Given the description of an element on the screen output the (x, y) to click on. 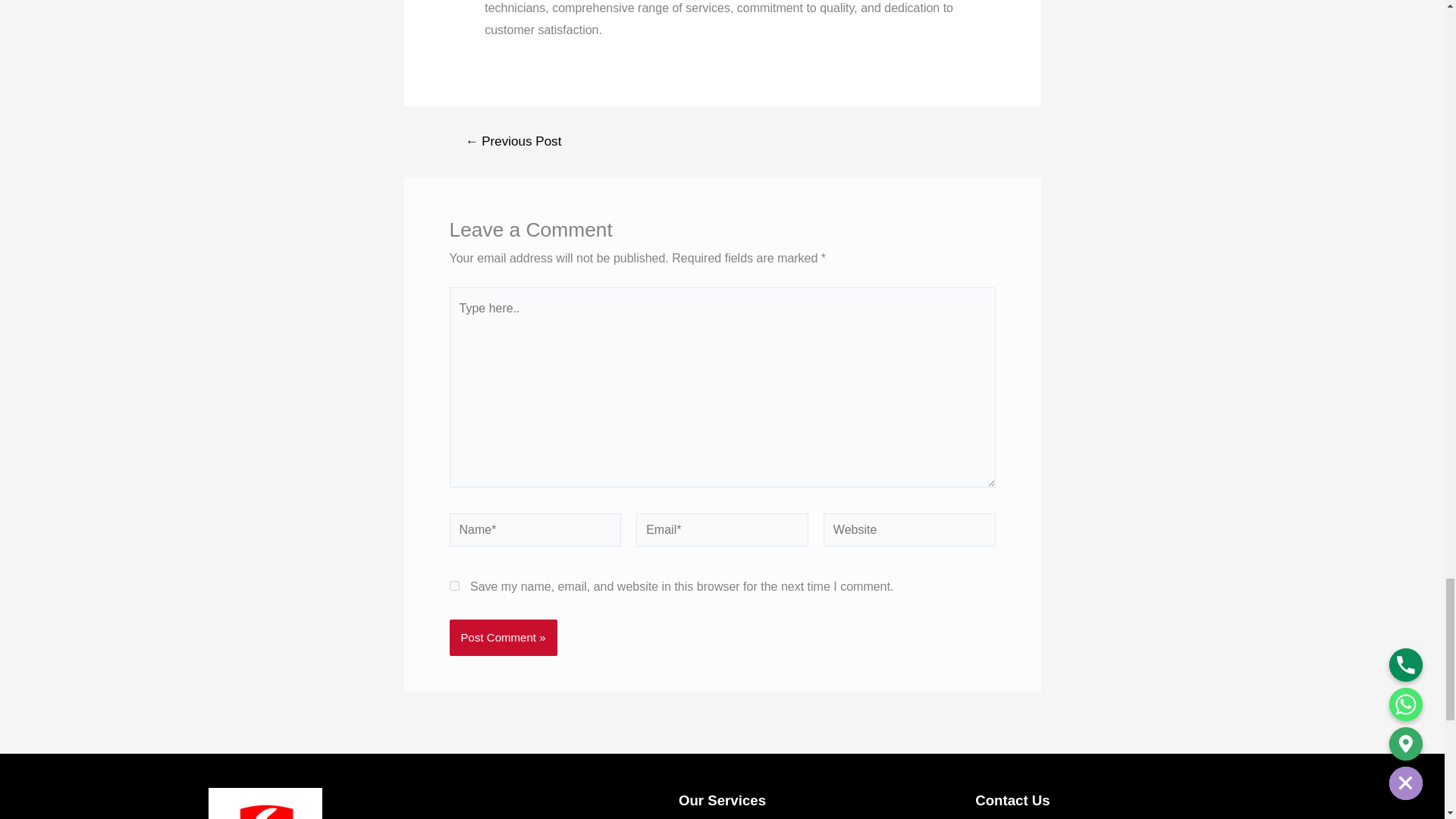
yes (453, 585)
